Given the description of an element on the screen output the (x, y) to click on. 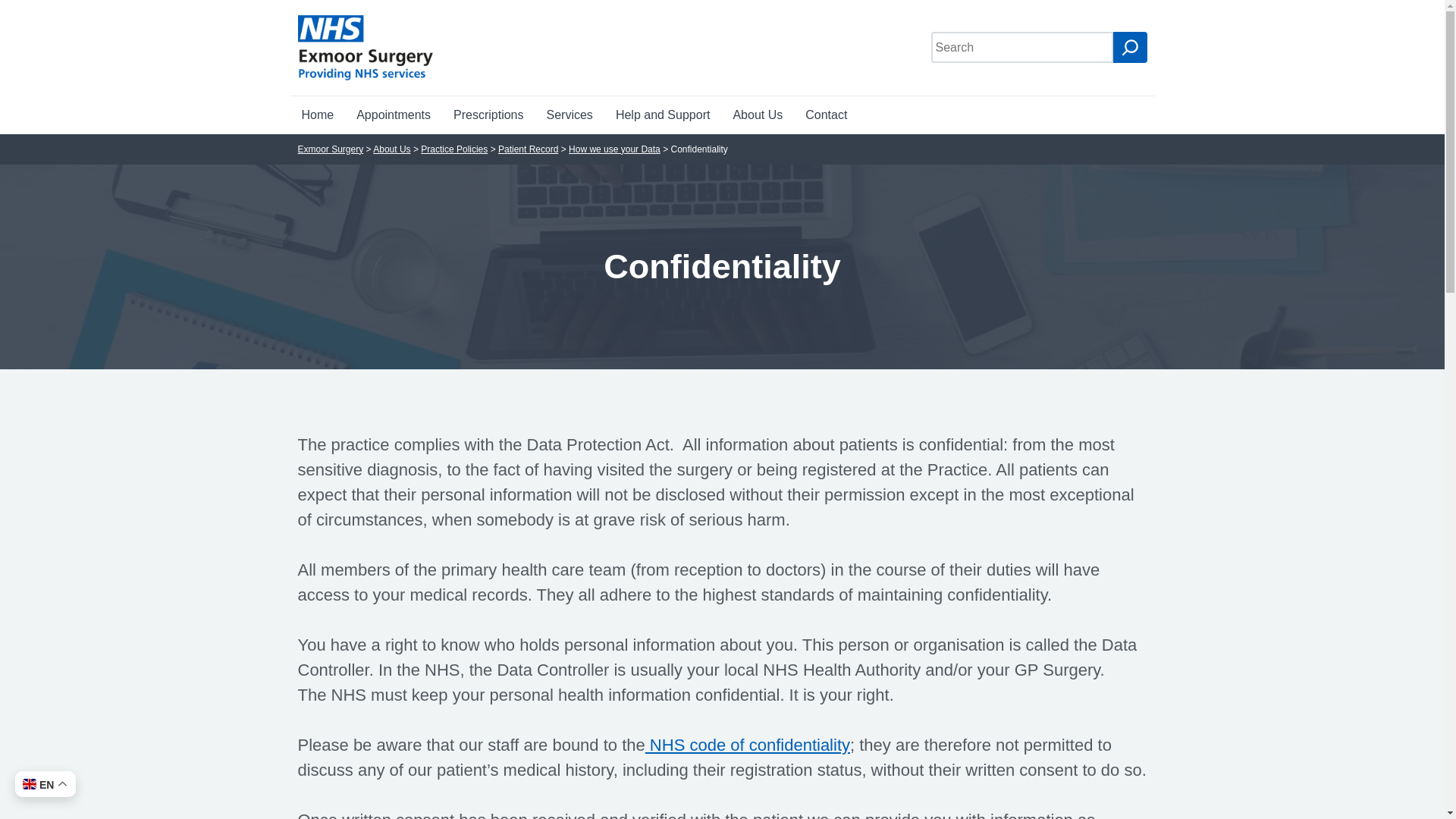
Contact (826, 115)
Patient Record (527, 149)
Go to Patient Record. (527, 149)
How we use your Data (615, 149)
Go to About Us. (391, 149)
Appointments (393, 115)
Go to How we use your Data. (615, 149)
Services (569, 115)
Home (317, 115)
Exmoor Surgery (329, 149)
Exmoor Surgery (365, 47)
NHS code of confidentiality (747, 744)
Prescriptions (488, 115)
Go to Practice Policies. (453, 149)
Help and Support (663, 115)
